Given the description of an element on the screen output the (x, y) to click on. 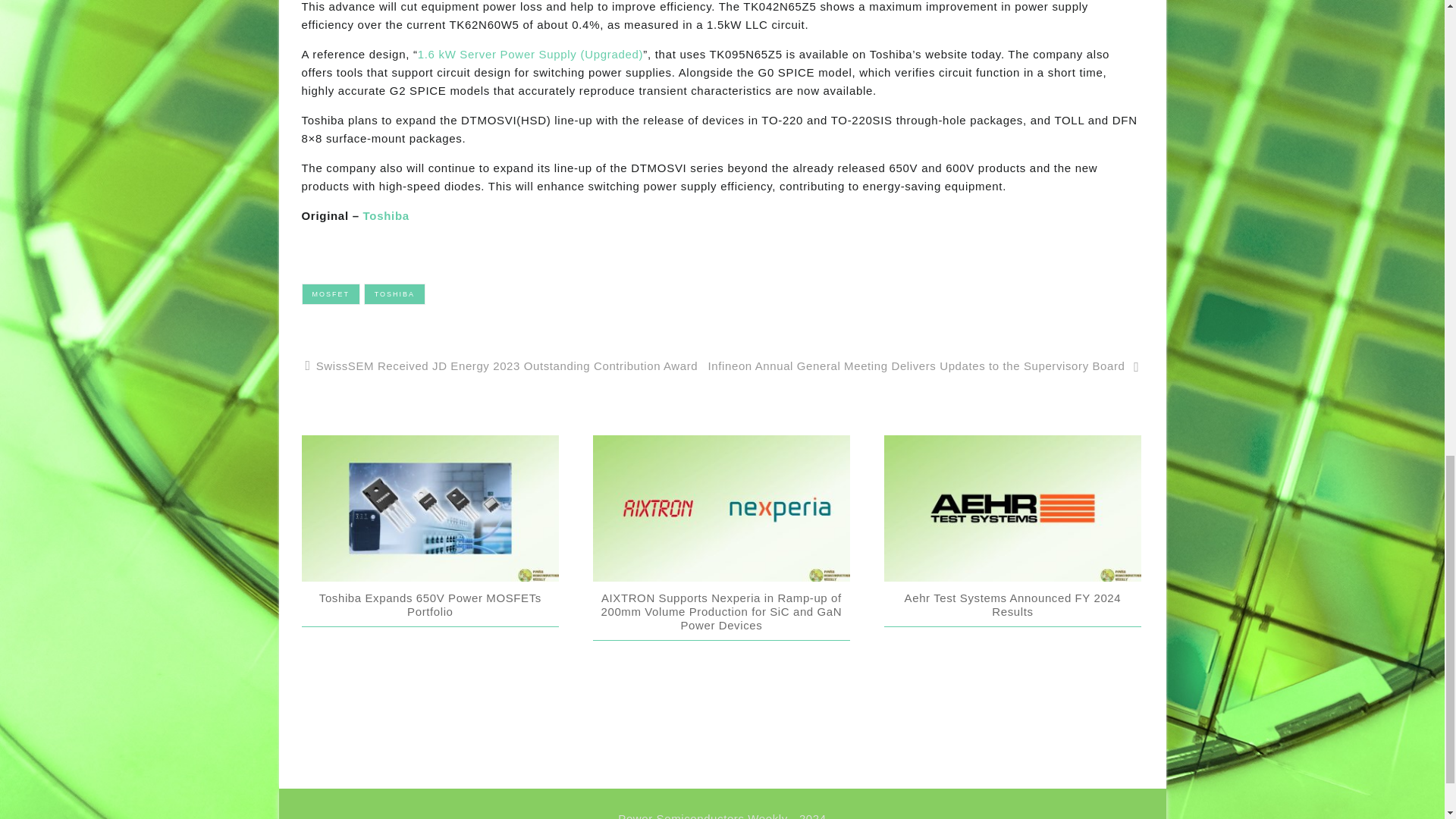
Toshiba (385, 215)
TOSHIBA (394, 293)
MOSFET (331, 293)
Aehr Test Systems Announced FY 2024 Results (1012, 604)
Toshiba Expands 650V Power MOSFETs Portfolio (429, 604)
